Given the description of an element on the screen output the (x, y) to click on. 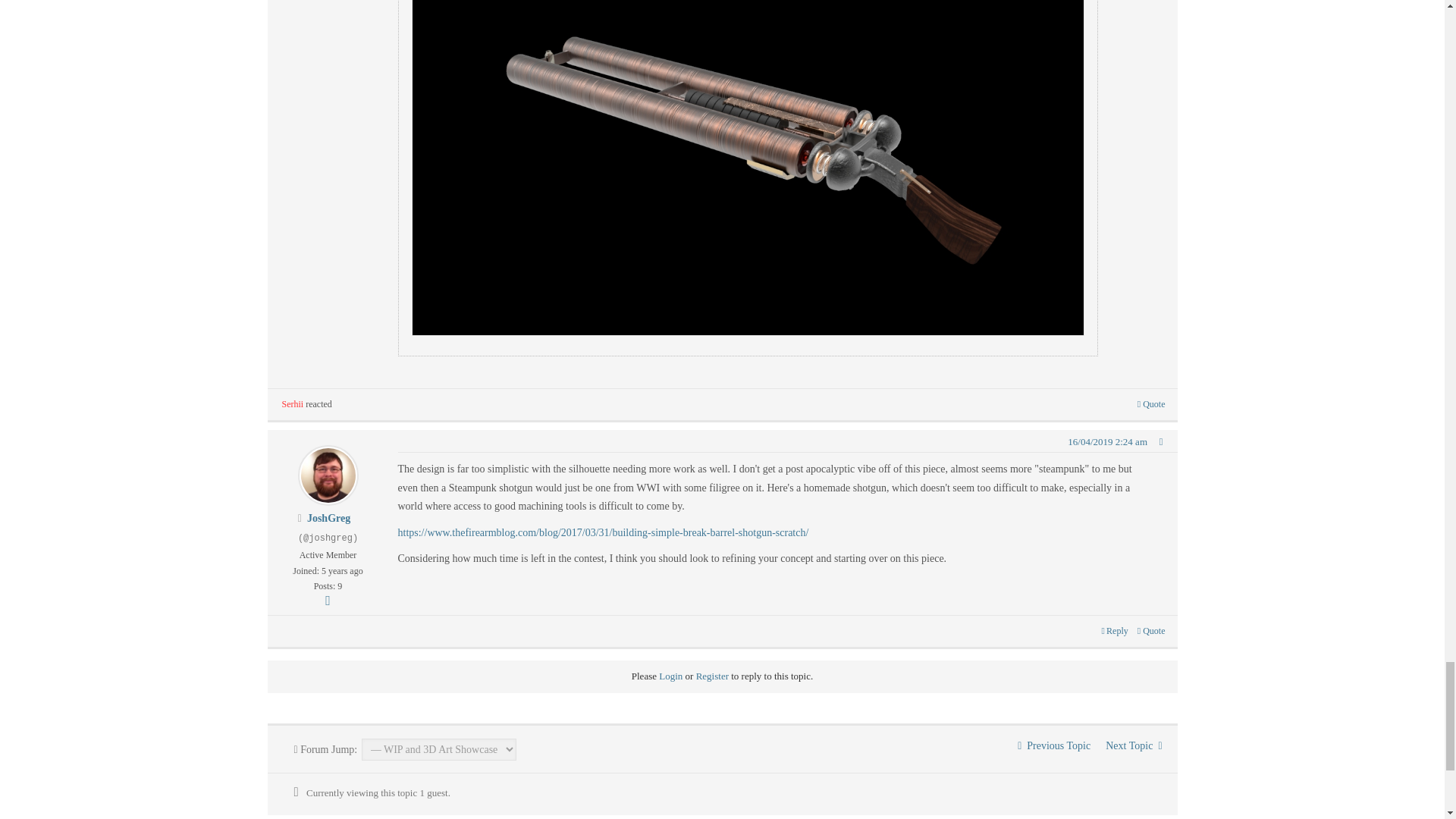
Serhii (293, 403)
Login (670, 675)
Serhii (293, 403)
JoshGreg (328, 518)
